Given the description of an element on the screen output the (x, y) to click on. 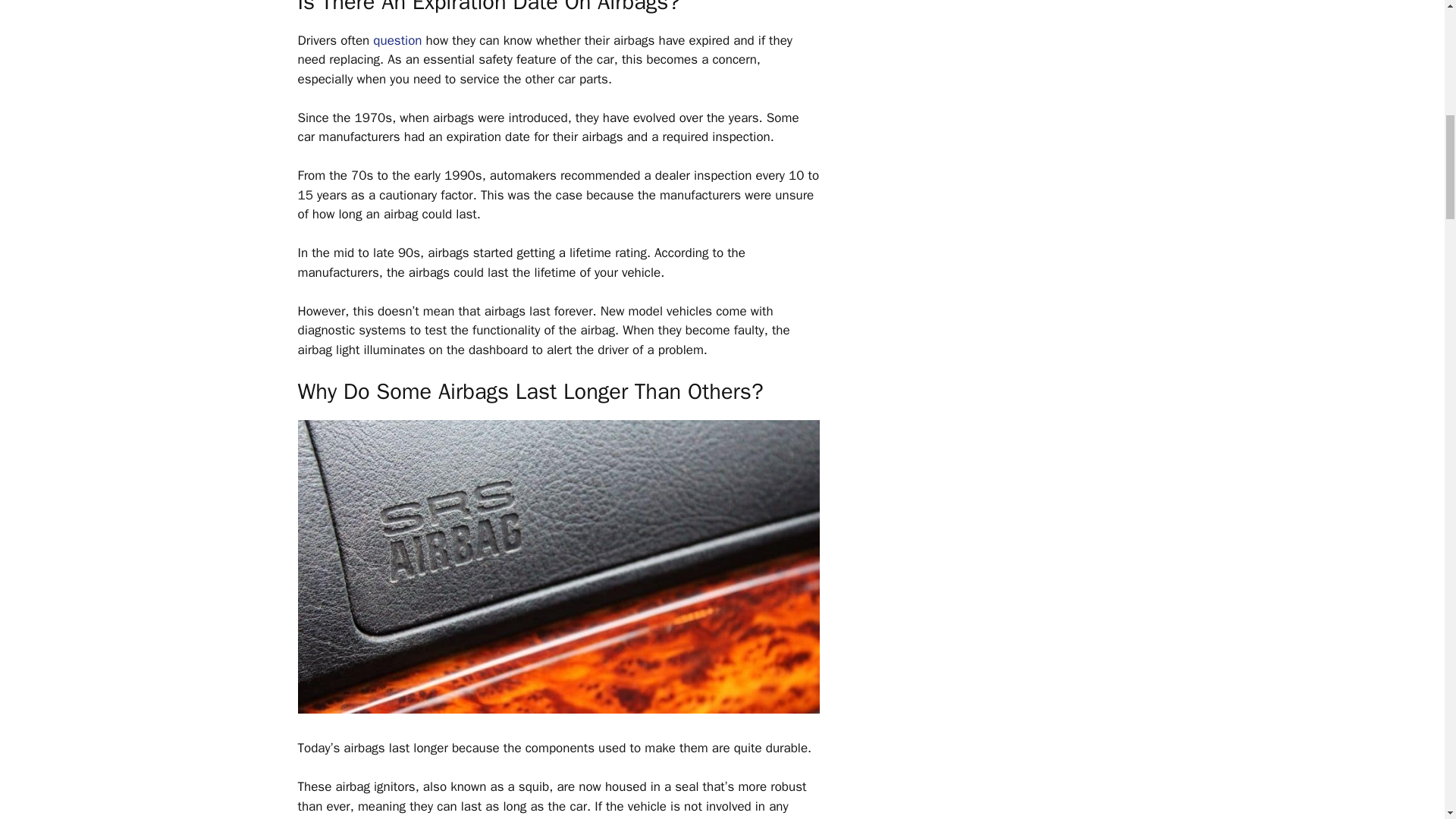
question (397, 40)
